Given the description of an element on the screen output the (x, y) to click on. 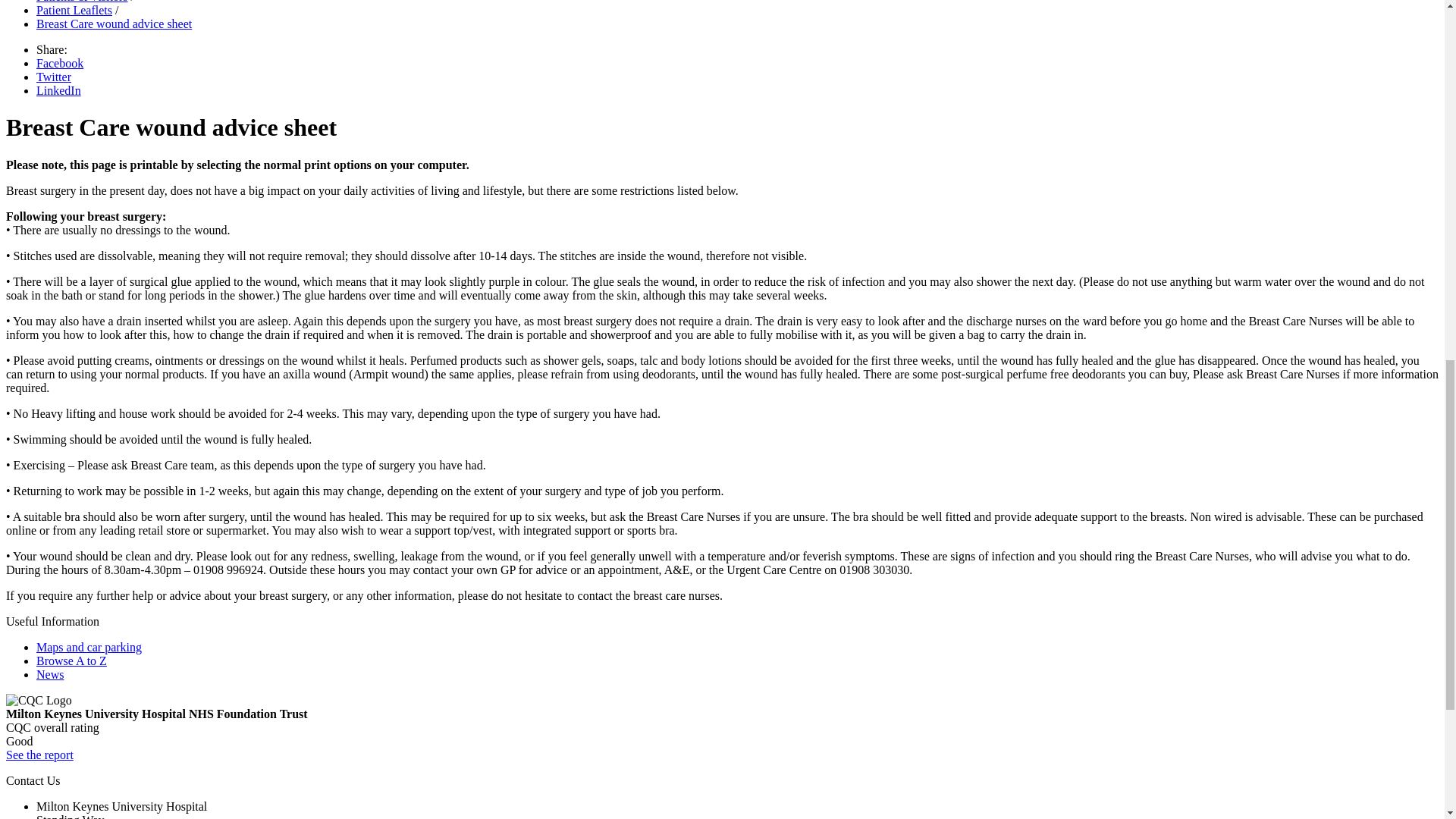
Twitter share (53, 76)
linkedin Share (58, 90)
Facebook share (59, 62)
